Given the description of an element on the screen output the (x, y) to click on. 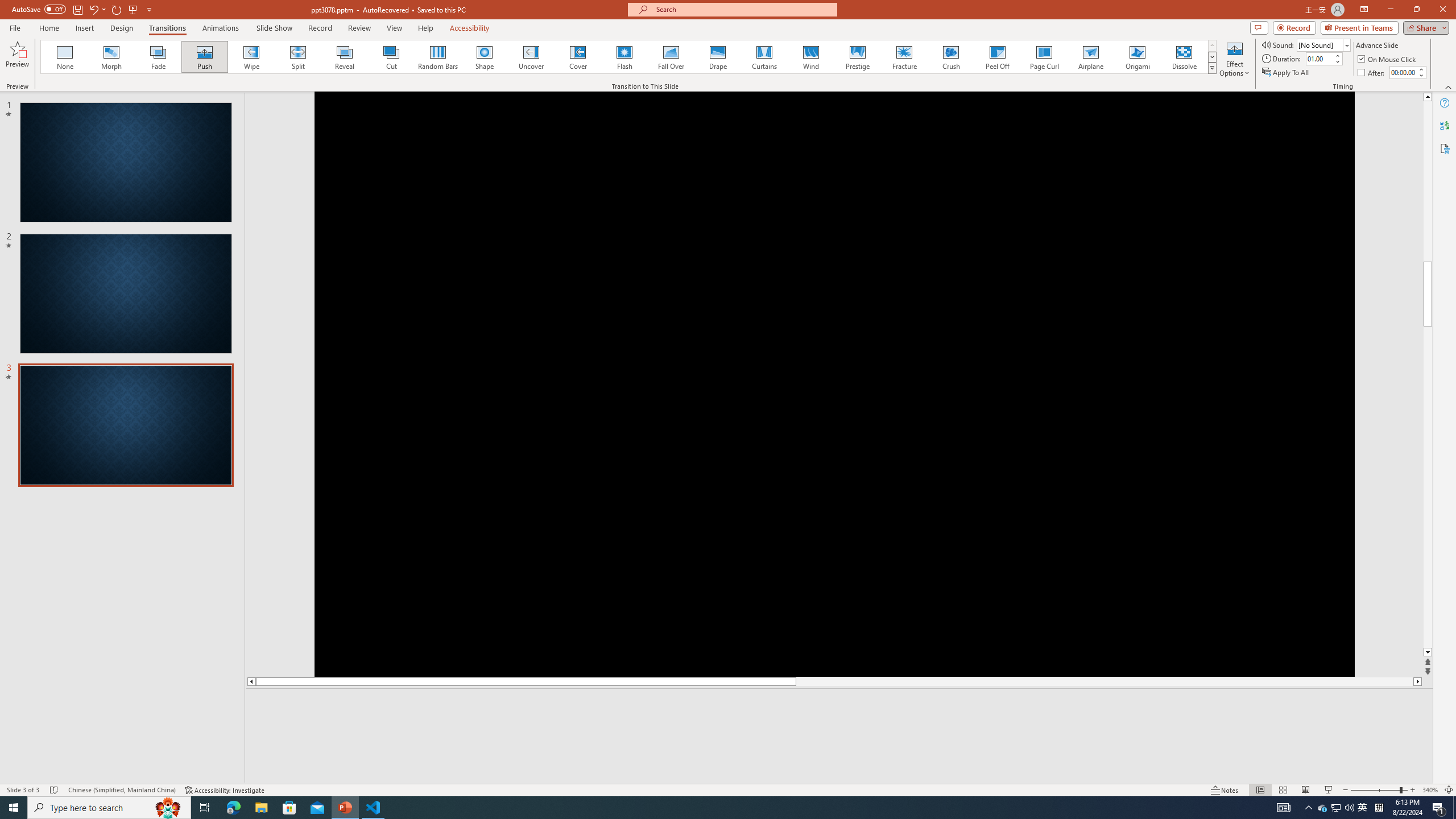
Curtains (764, 56)
Slide Notes (839, 705)
Duration (1319, 58)
Page Curl (1043, 56)
Random Bars (437, 56)
